Given the description of an element on the screen output the (x, y) to click on. 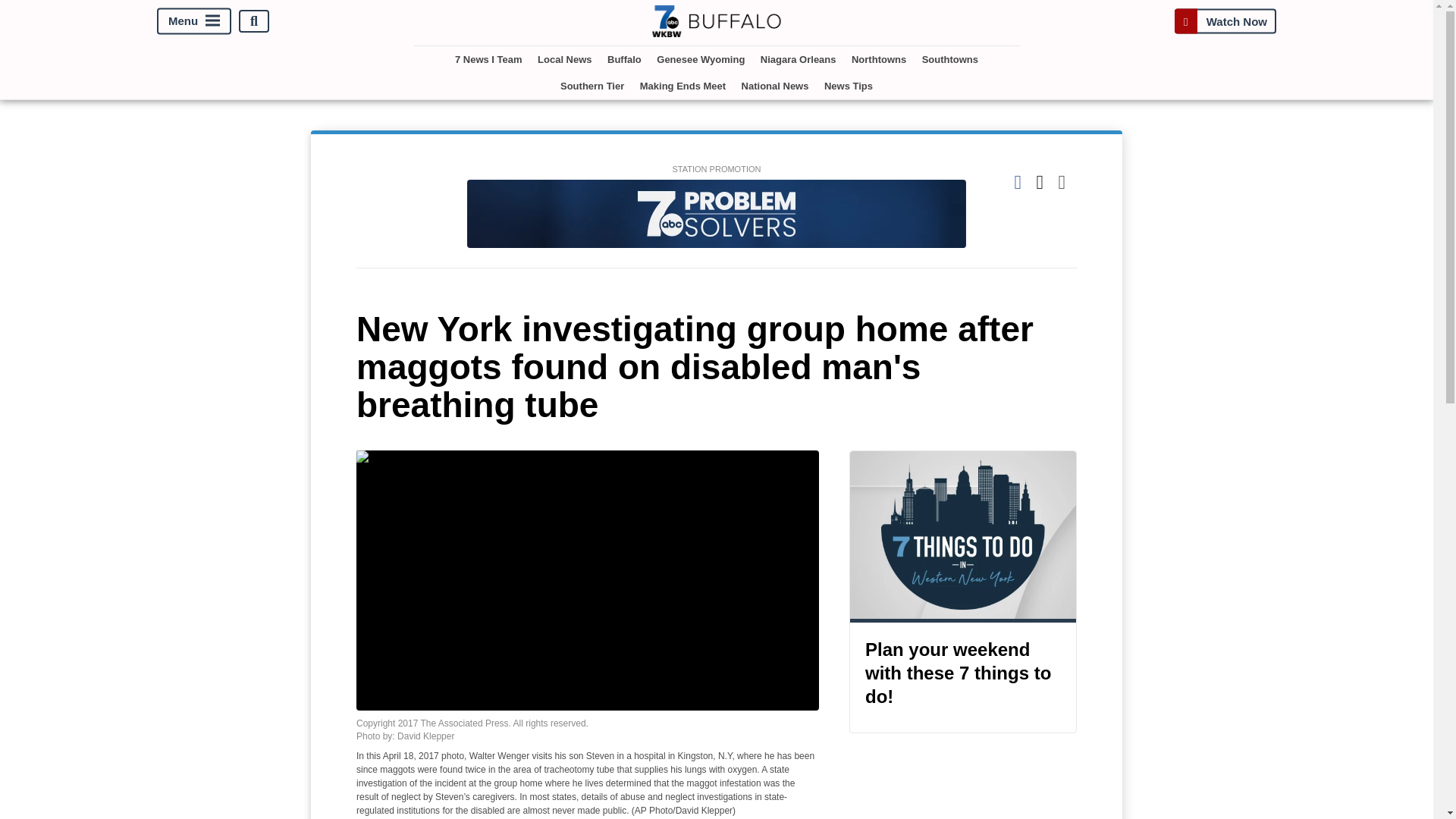
Watch Now (1224, 21)
Menu (194, 21)
